Given the description of an element on the screen output the (x, y) to click on. 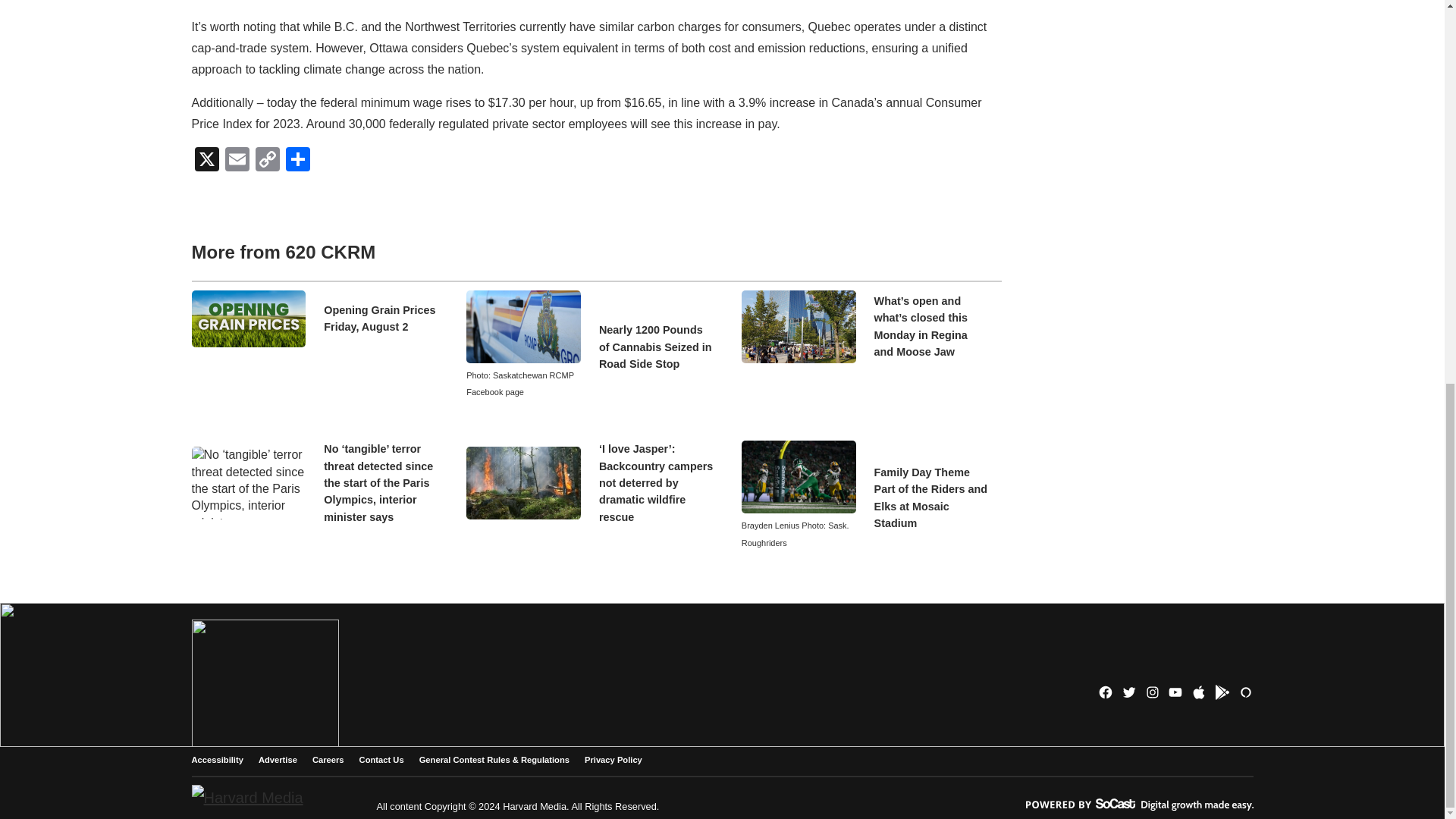
Copy Link (266, 161)
Copy Link (266, 161)
X (205, 161)
Share (297, 161)
Email (236, 161)
Email (236, 161)
Opening Grain Prices Friday, August 2 (380, 318)
Nearly 1200 Pounds of Cannabis Seized in Road Side Stop (655, 346)
X (205, 161)
Powered By SoCast (1138, 804)
Facebook (1105, 692)
